Given the description of an element on the screen output the (x, y) to click on. 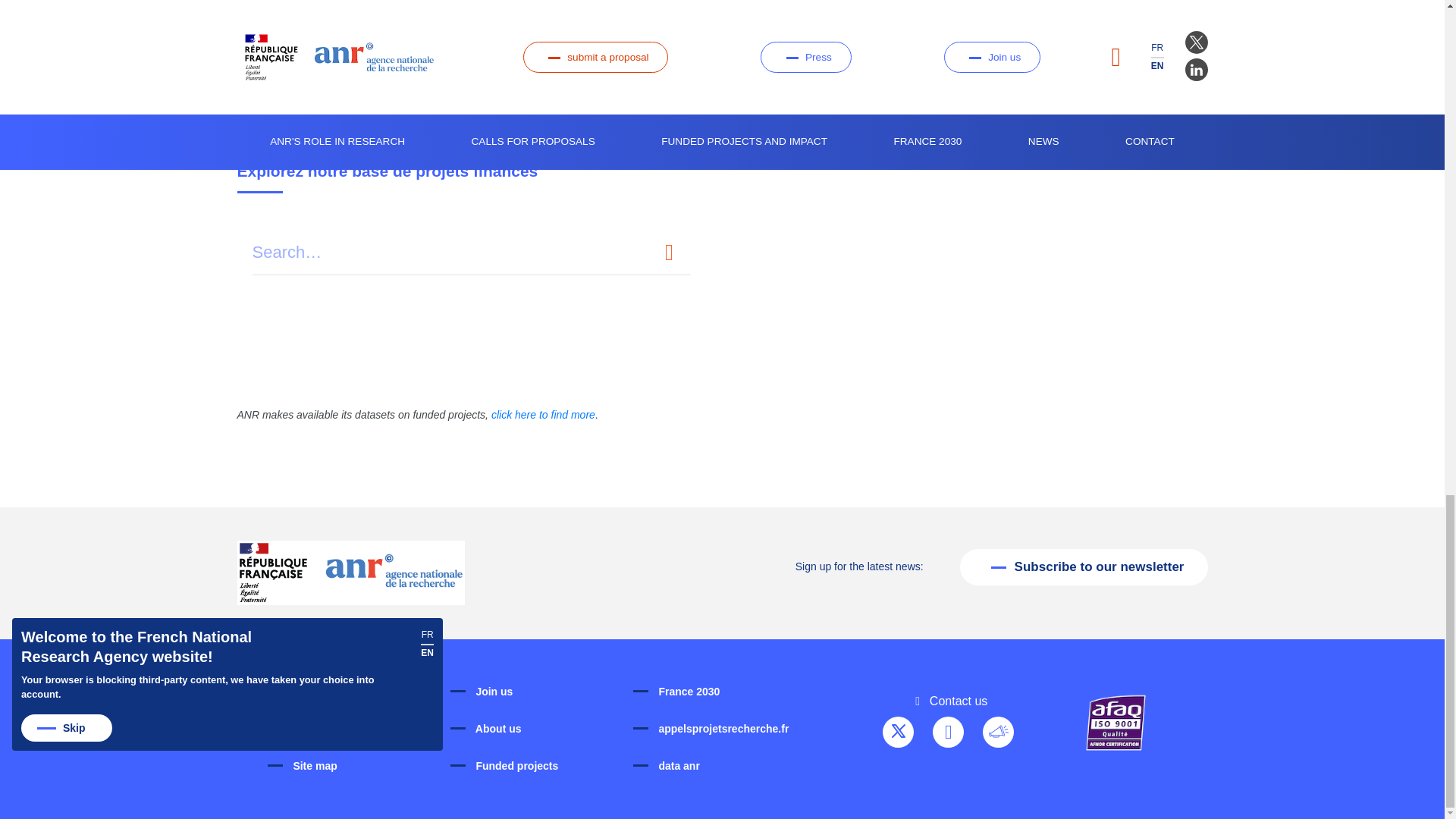
RSS Feeds (997, 731)
ANR on LinkedIn (948, 731)
